Given the description of an element on the screen output the (x, y) to click on. 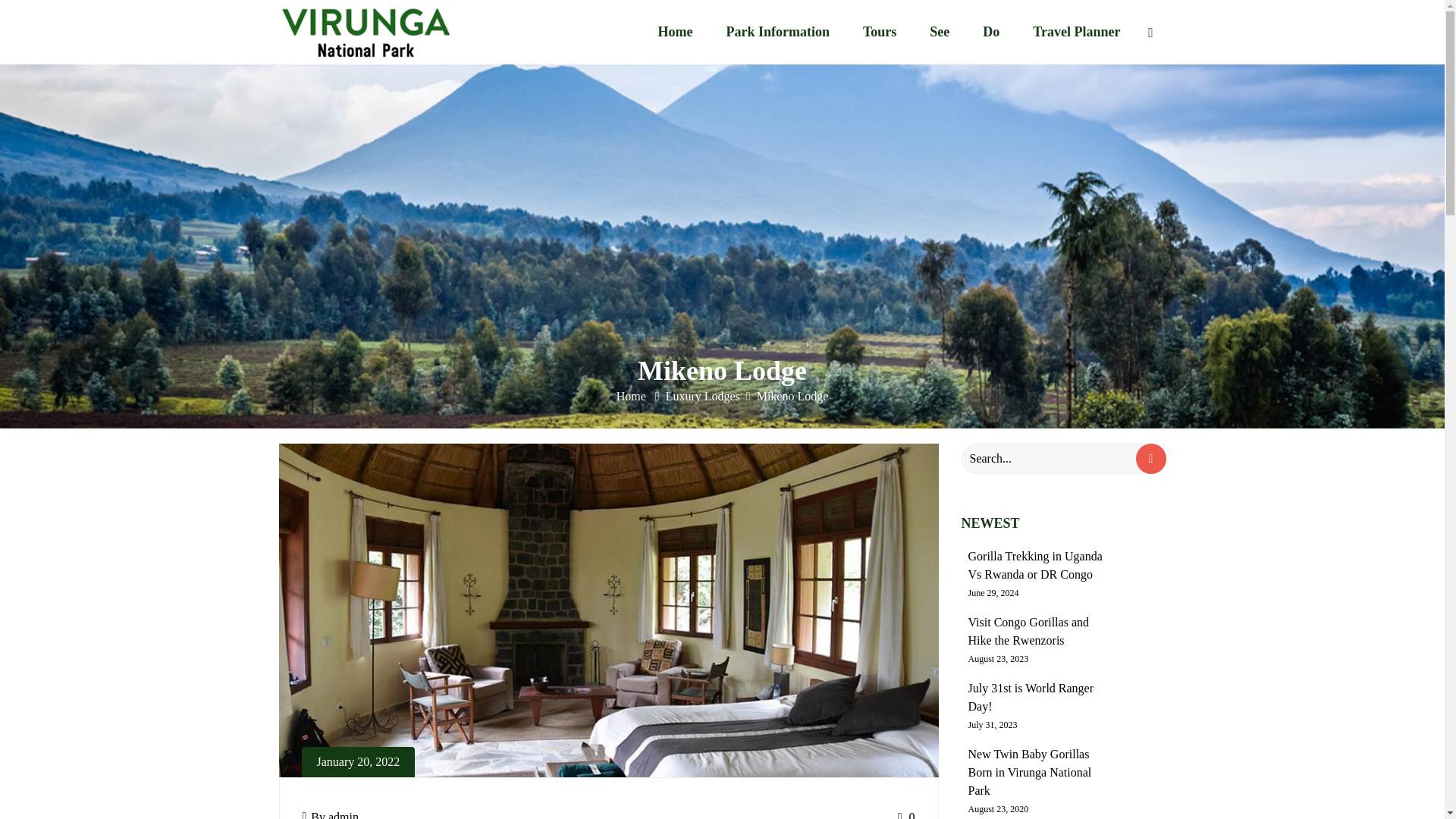
Visit Congo Gorillas and Hike the Rwenzoris (1027, 631)
Tours (879, 32)
Gorilla Trekking in Uganda Vs Rwanda or DR Congo (1035, 564)
Home (632, 395)
Luxury Lodges (702, 395)
Mikeno Lodge (792, 395)
0 (906, 814)
Home (675, 32)
Park Information (777, 32)
admin (343, 814)
